Given the description of an element on the screen output the (x, y) to click on. 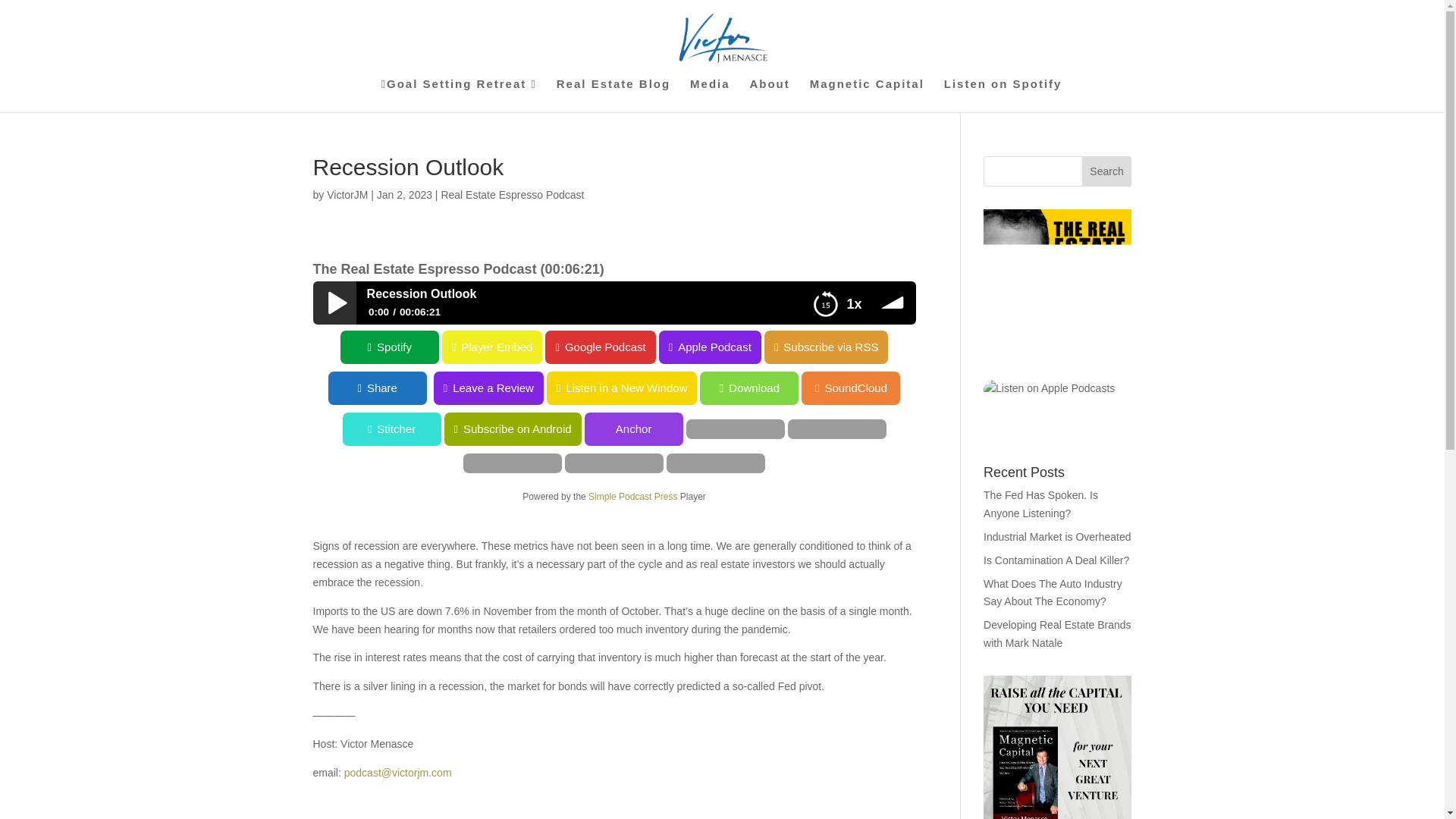
Spotify (389, 346)
Simple Podcast Press (632, 496)
Share (555, 387)
Download (49, 387)
Real Estate Espresso Podcast (512, 194)
Google Podcast (599, 346)
Magnetic Capital (866, 95)
Player Embed (50, 346)
Media (710, 95)
VictorJM (347, 194)
Leave a Review (666, 387)
Apple Podcast (710, 346)
Search (1106, 171)
Subscribe via RSS (826, 346)
Posts by VictorJM (347, 194)
